Given the description of an element on the screen output the (x, y) to click on. 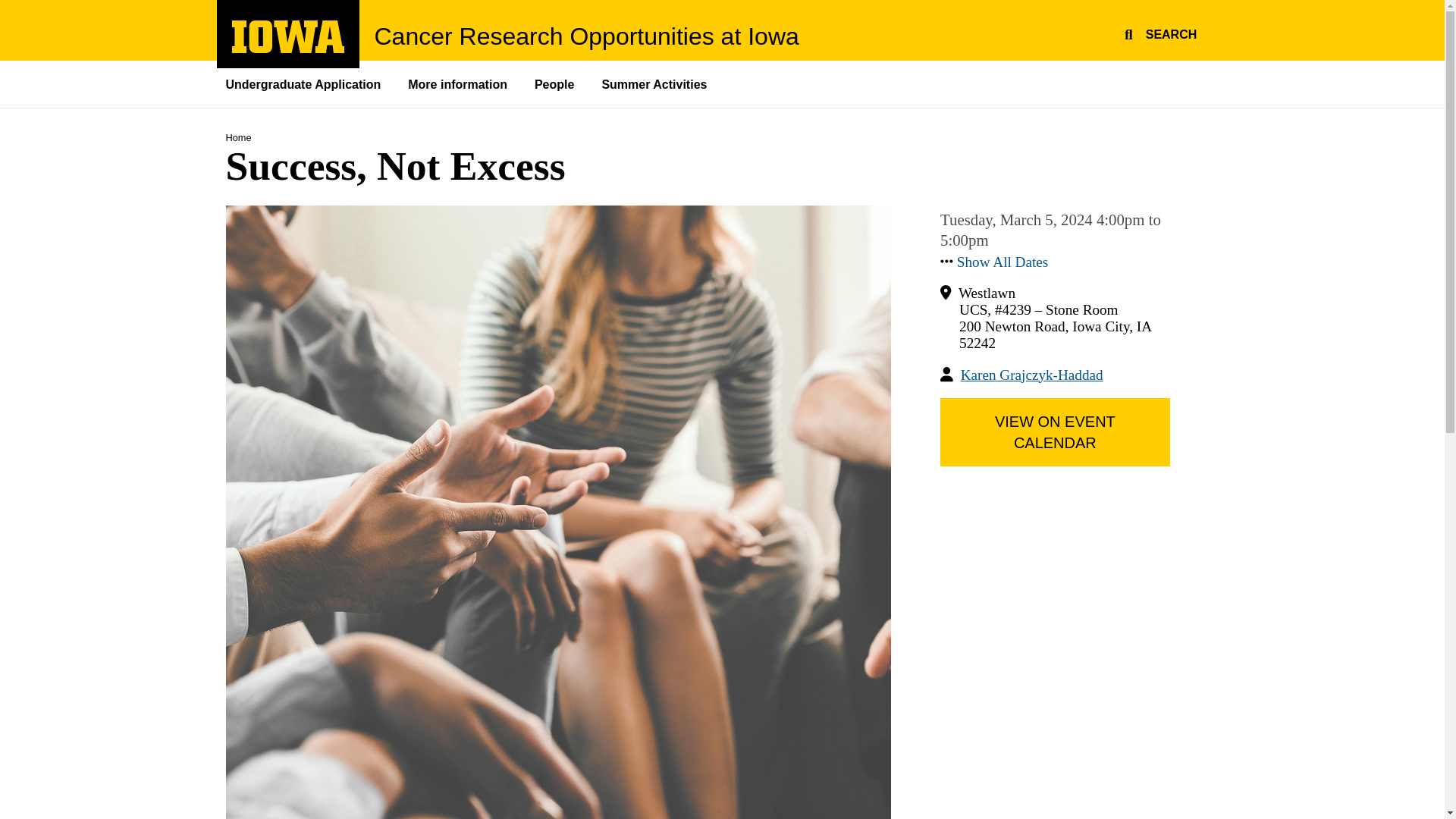
Skip to main content (7, 7)
Show All Dates (288, 48)
Undergraduate Application (1002, 261)
Show All Dates (310, 83)
More information (1002, 261)
Summer Activities (459, 83)
Undergraduate Program information (655, 83)
Home (459, 83)
Karen Grajczyk-Haddad (238, 137)
University of Iowa (1031, 374)
VIEW ON EVENT CALENDAR (288, 36)
SEARCH (1055, 432)
Cancer Research Opportunities at Iowa (1157, 32)
Leadership, staff, and mentors (586, 36)
